Given the description of an element on the screen output the (x, y) to click on. 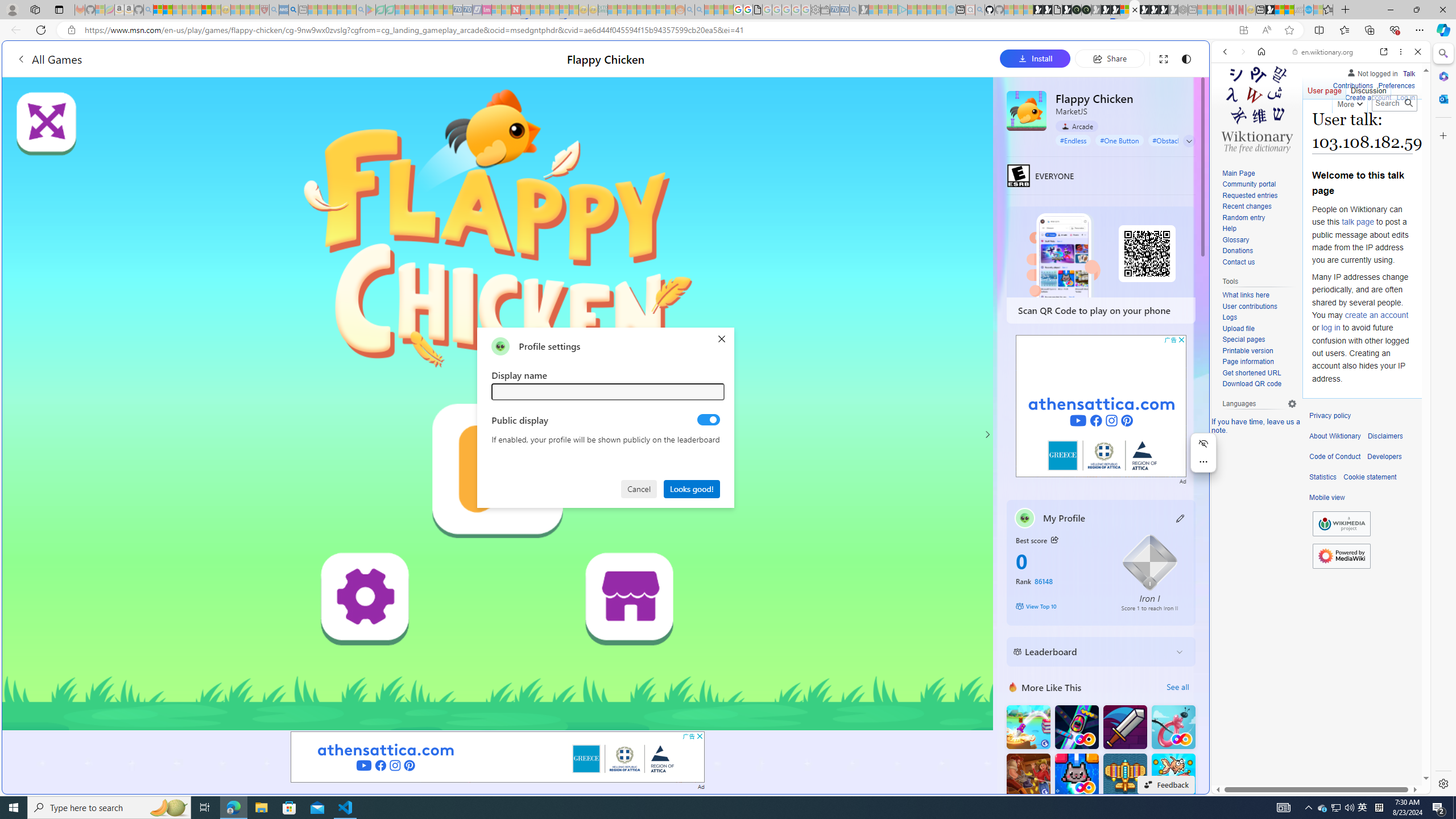
New Report Confirms 2023 Was Record Hot | Watch - Sleeping (196, 9)
Wiktionary (1315, 380)
Contributions (1352, 84)
Mobile view (1326, 497)
AutomationID: cbb (1181, 339)
